Given the description of an element on the screen output the (x, y) to click on. 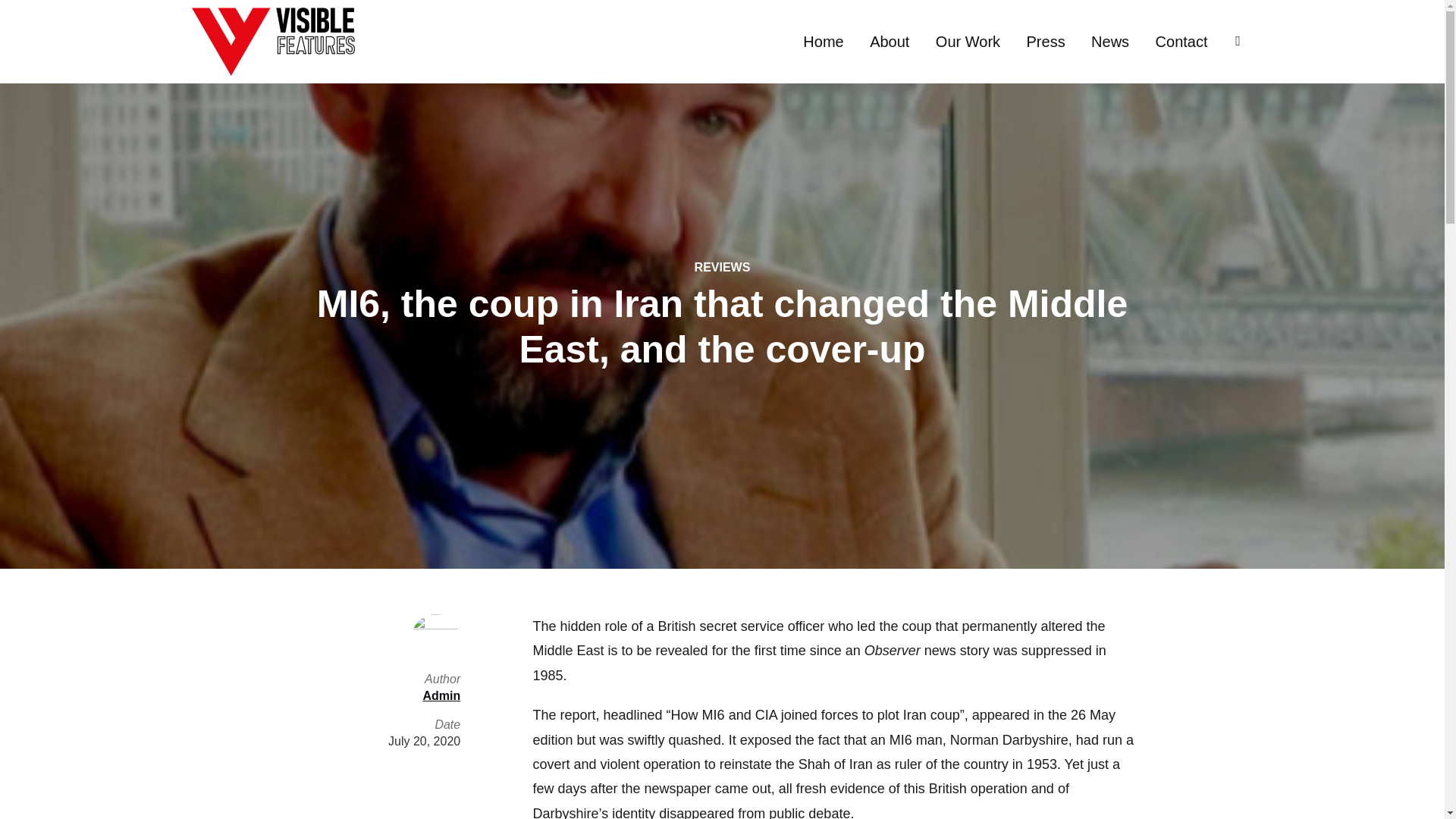
Our Work (968, 41)
REVIEWS (721, 267)
Admin (441, 695)
News (1109, 41)
Posts by Admin (441, 695)
Contact (1182, 41)
Search (15, 15)
Home (823, 41)
Press (1045, 41)
About (888, 41)
